Given the description of an element on the screen output the (x, y) to click on. 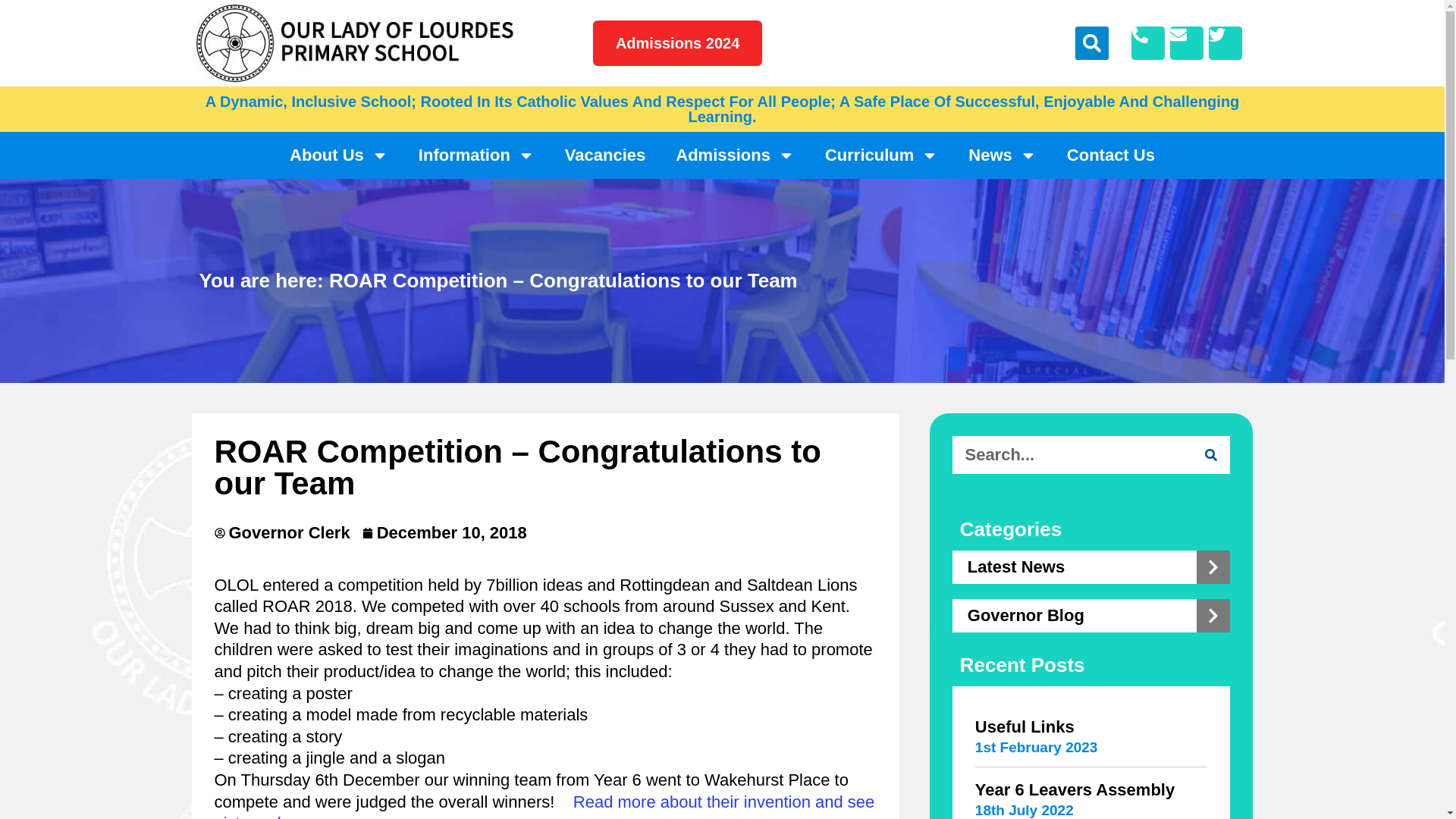
Admissions 2024 (676, 43)
Our Lady of Lourdes Primary School Logo (353, 43)
